Given the description of an element on the screen output the (x, y) to click on. 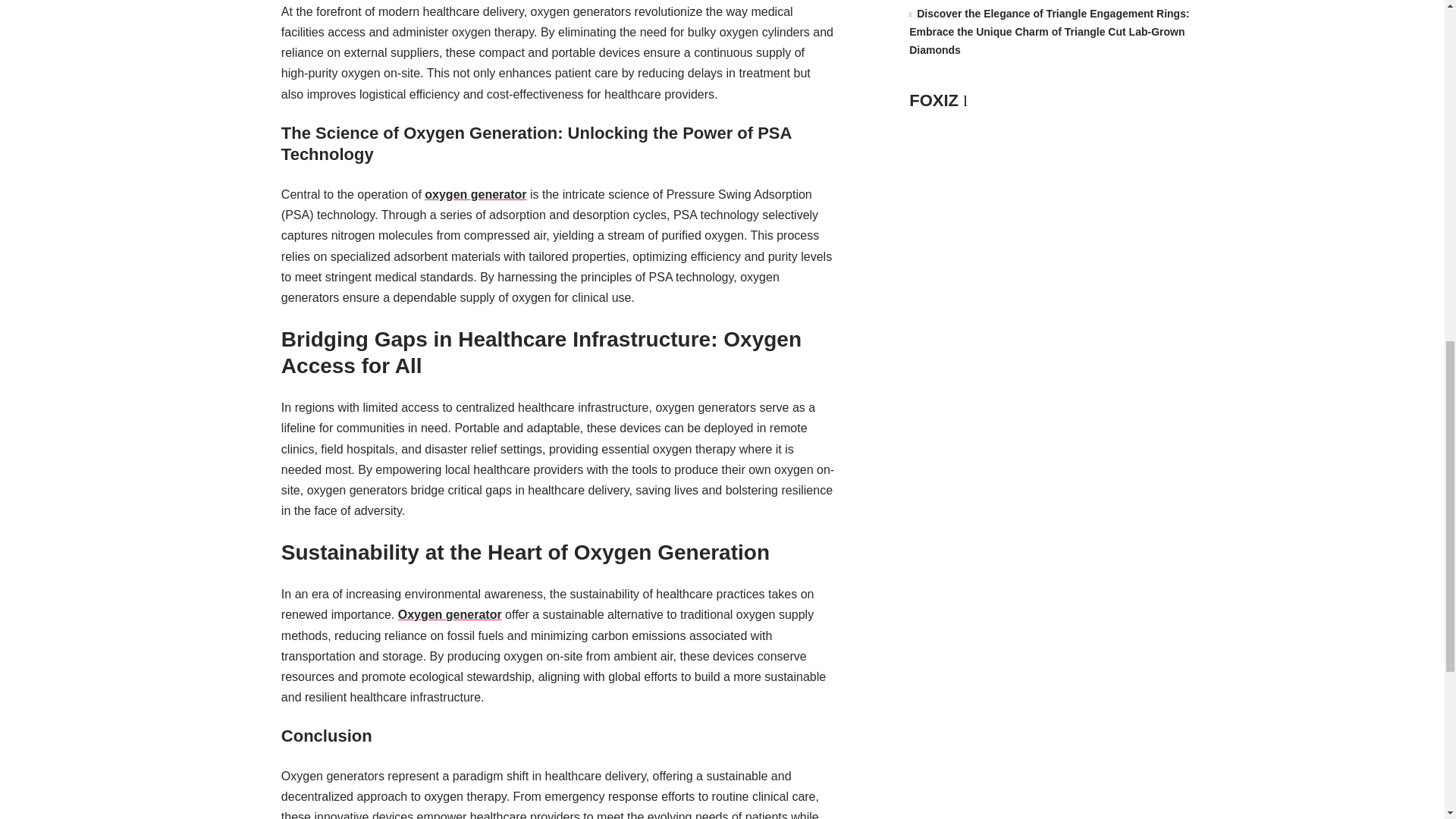
oxygen generator (475, 194)
Oxygen generator (449, 614)
